Given the description of an element on the screen output the (x, y) to click on. 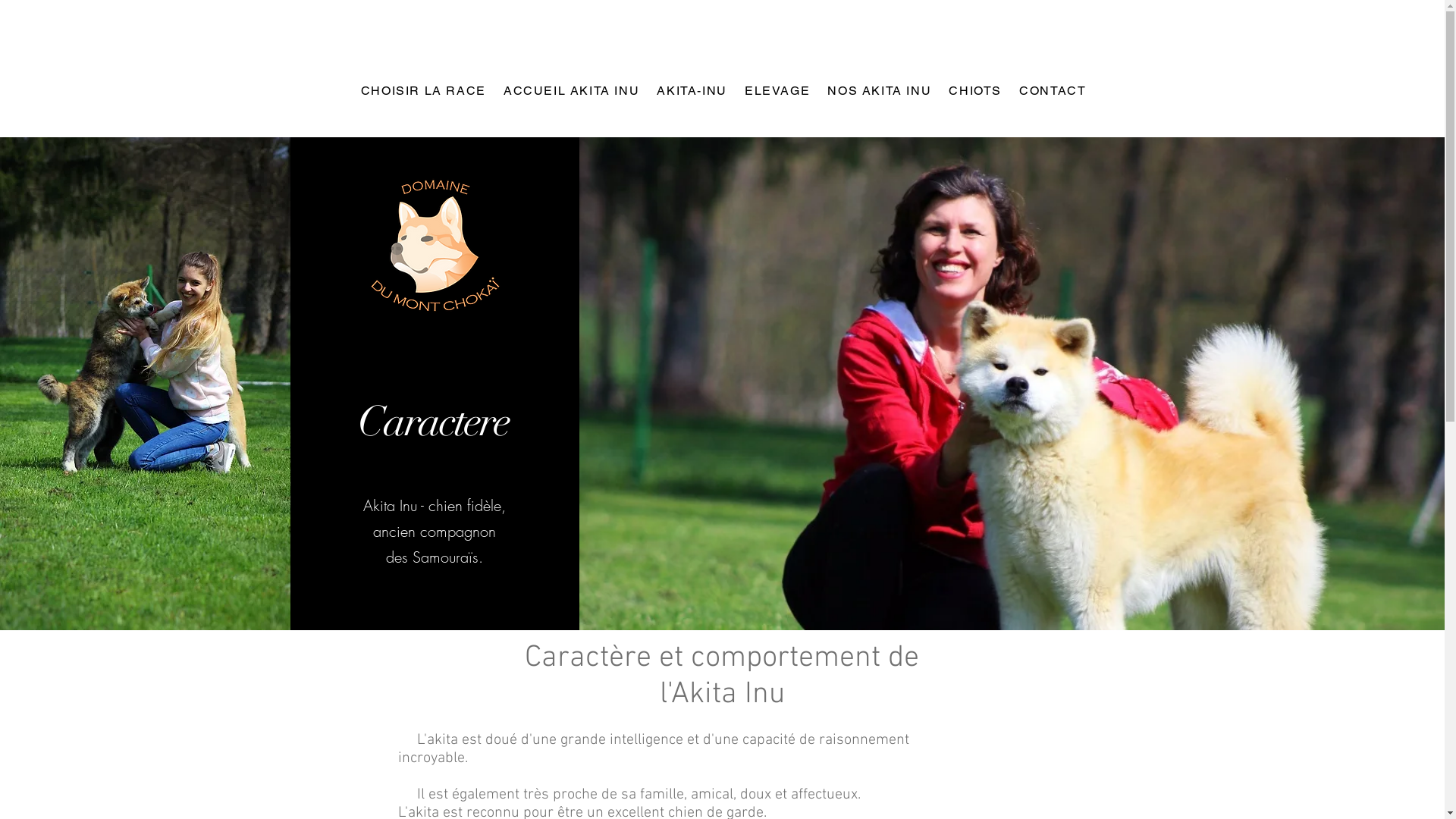
Caractere Element type: text (432, 421)
ACCUEIL AKITA INU Element type: text (569, 90)
ELEVAGE Element type: text (775, 90)
NOS AKITA INU Element type: text (877, 90)
CHOISIR LA RACE Element type: text (421, 90)
AKITA-INU Element type: text (690, 90)
CONTACT Element type: text (1051, 90)
CHIOTS Element type: text (973, 90)
